Given the description of an element on the screen output the (x, y) to click on. 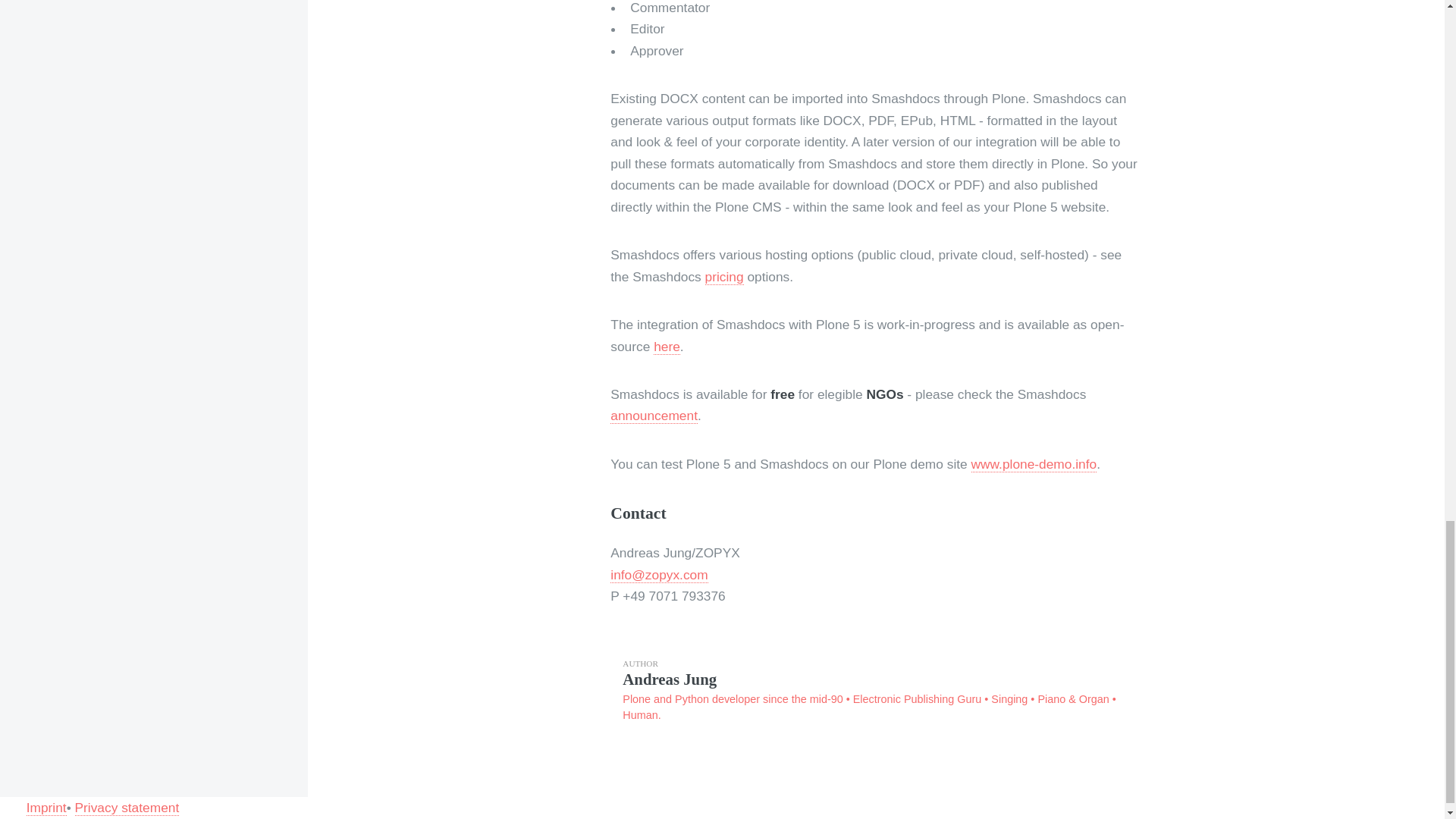
Privacy statement (127, 807)
www.plone-demo.info (1034, 464)
pricing (724, 277)
announcement (653, 415)
here (666, 346)
Imprint (46, 807)
